Given the description of an element on the screen output the (x, y) to click on. 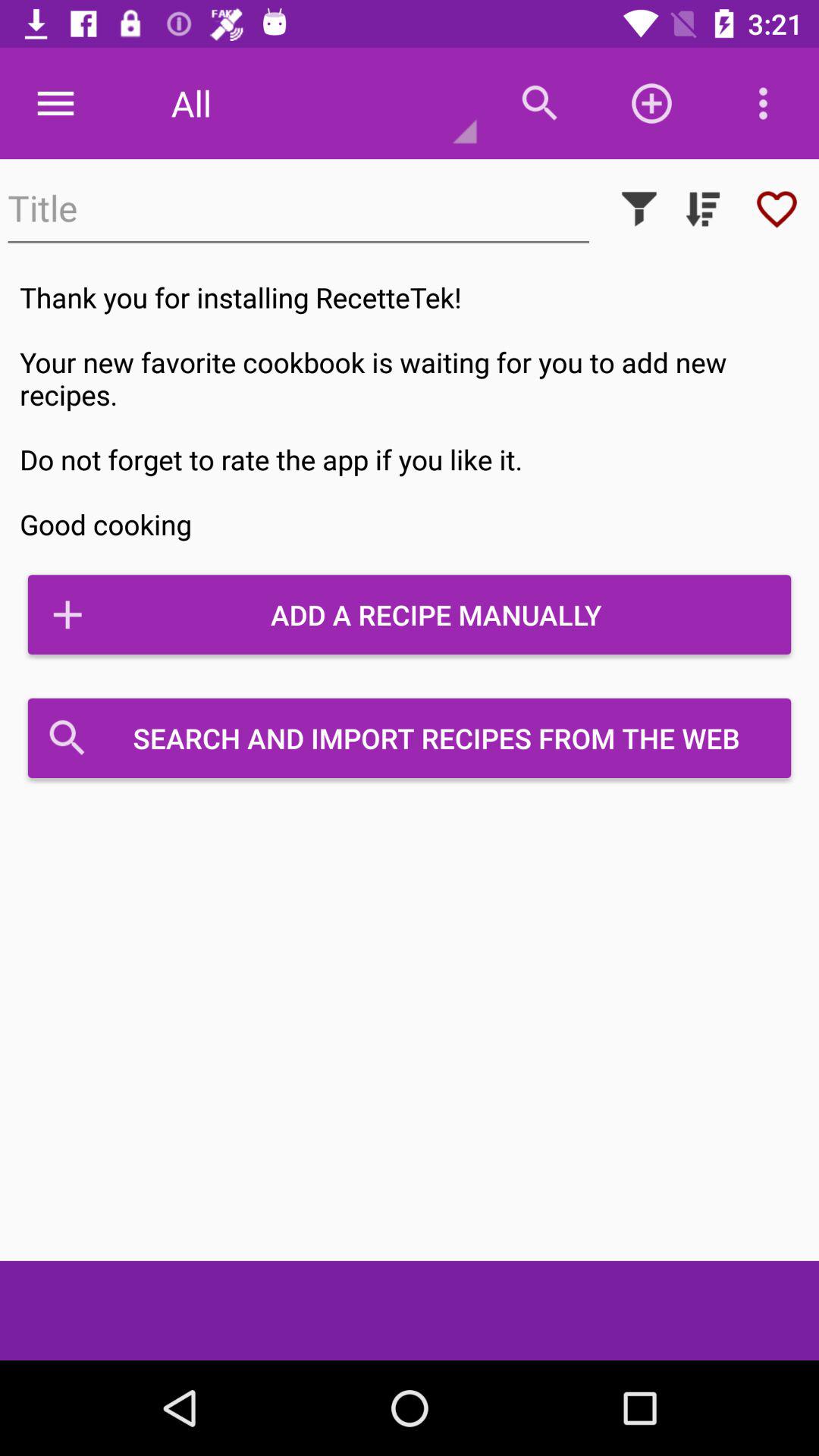
turn off the item above thank you for (702, 208)
